Given the description of an element on the screen output the (x, y) to click on. 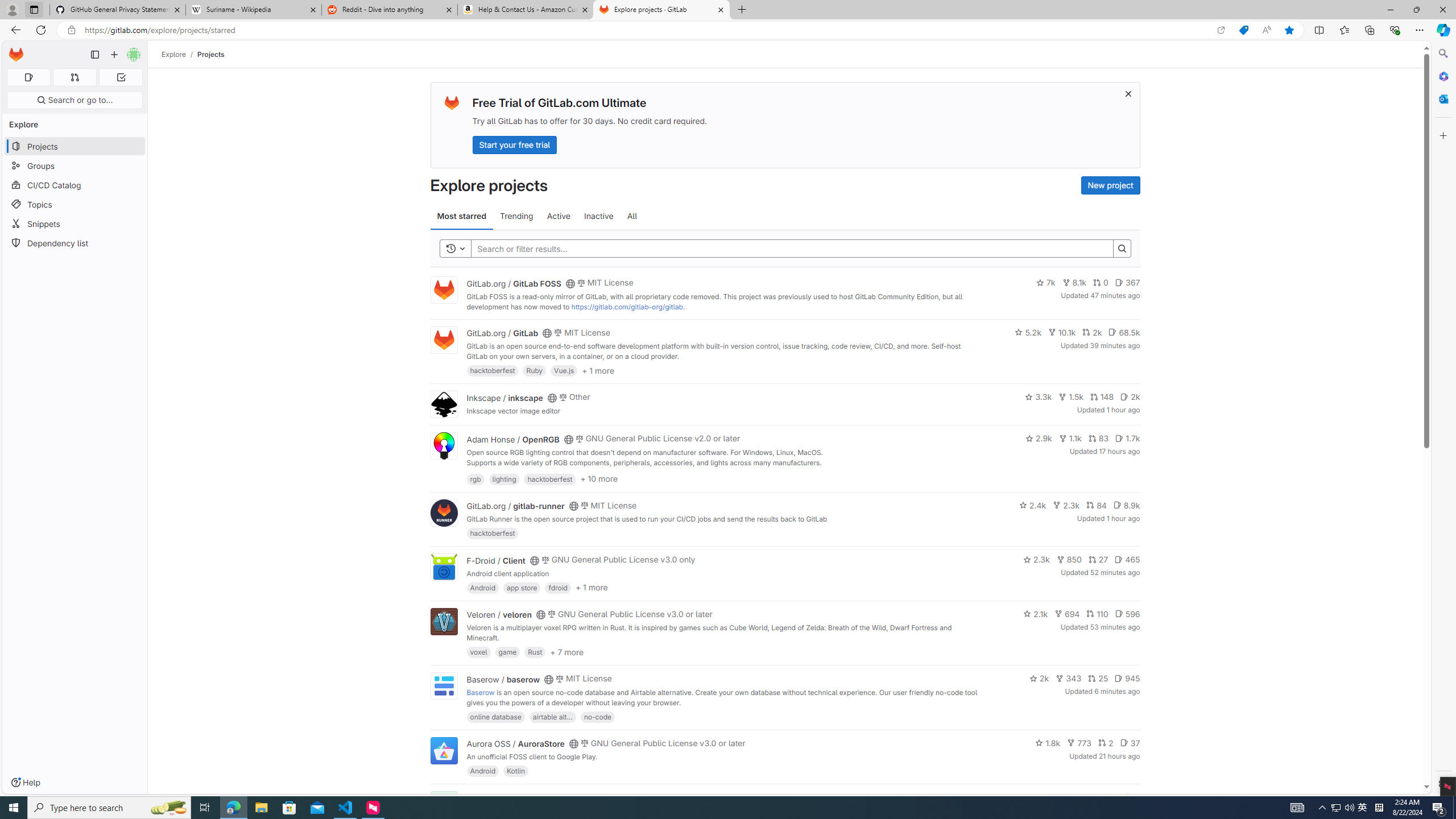
rgb (475, 478)
10.1k (1061, 331)
GitLab.org / GitLab (501, 333)
945 (1127, 678)
app store (521, 587)
New project (1110, 185)
+ 1 more (591, 587)
6 (1132, 797)
Ruby (533, 370)
